Given the description of an element on the screen output the (x, y) to click on. 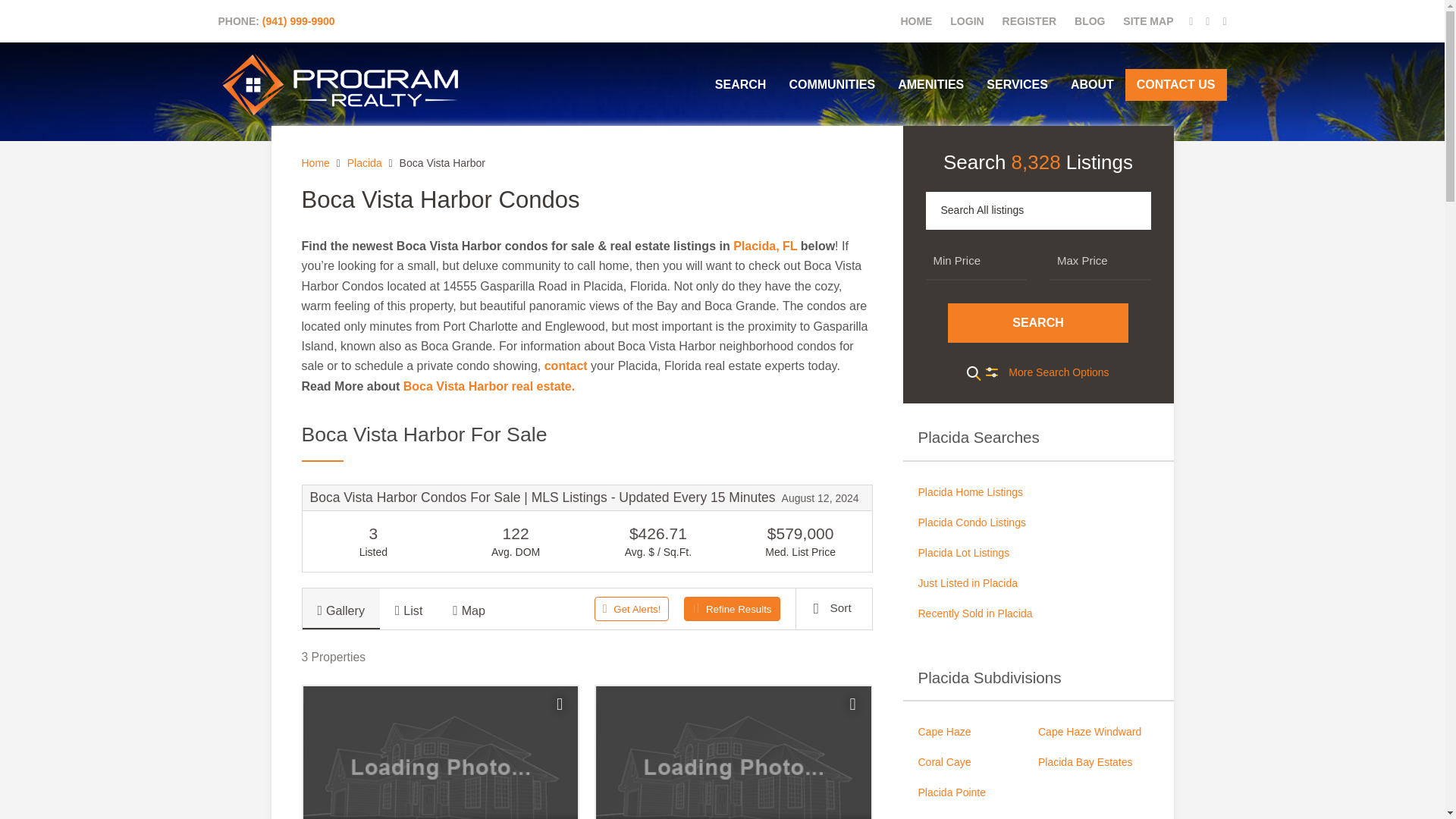
Just Listed in Placida (1037, 583)
Placida Condos for Sale (1037, 521)
HOME (915, 21)
LOGIN (967, 21)
Placida Florida Real Estate (1037, 491)
BLOG (1089, 21)
SEARCH (740, 84)
SITE MAP (1147, 21)
Boca Vista Harbor Real Estate Market (489, 386)
COMMUNITIES (831, 84)
